Given the description of an element on the screen output the (x, y) to click on. 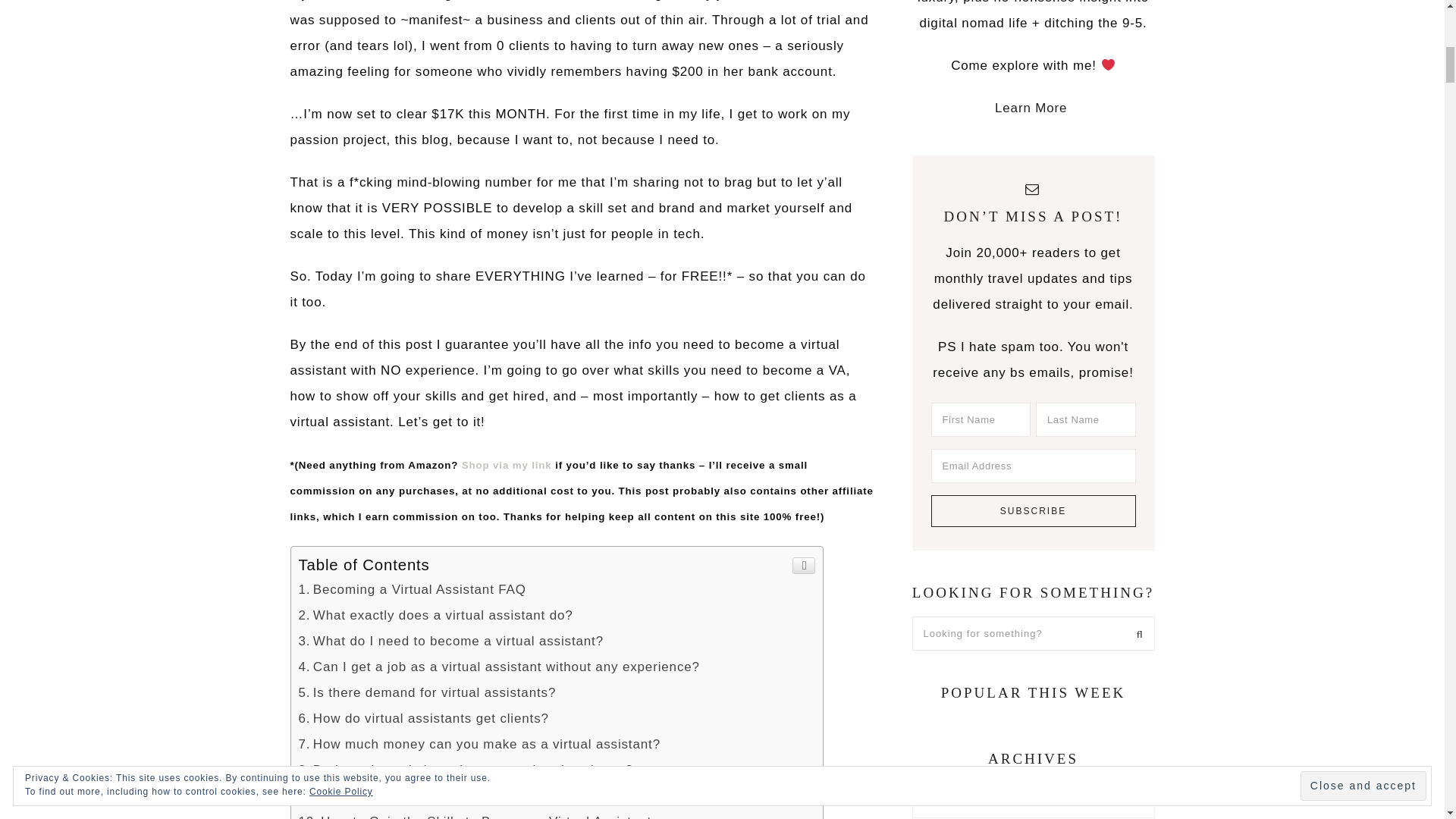
What exactly does a virtual assistant do? (435, 615)
How to Gain the Skills to Become a Virtual Assistant (475, 816)
Subscribe (1033, 511)
How do virtual assistants get clients? (423, 718)
How much money can you make as a virtual assistant? (479, 744)
Do I need a website to become a virtual assistant? (465, 769)
How do I write a resume for virtual assisting? (448, 795)
Becoming a Virtual Assistant FAQ (411, 589)
What do I need to become a virtual assistant? (451, 640)
